Given the description of an element on the screen output the (x, y) to click on. 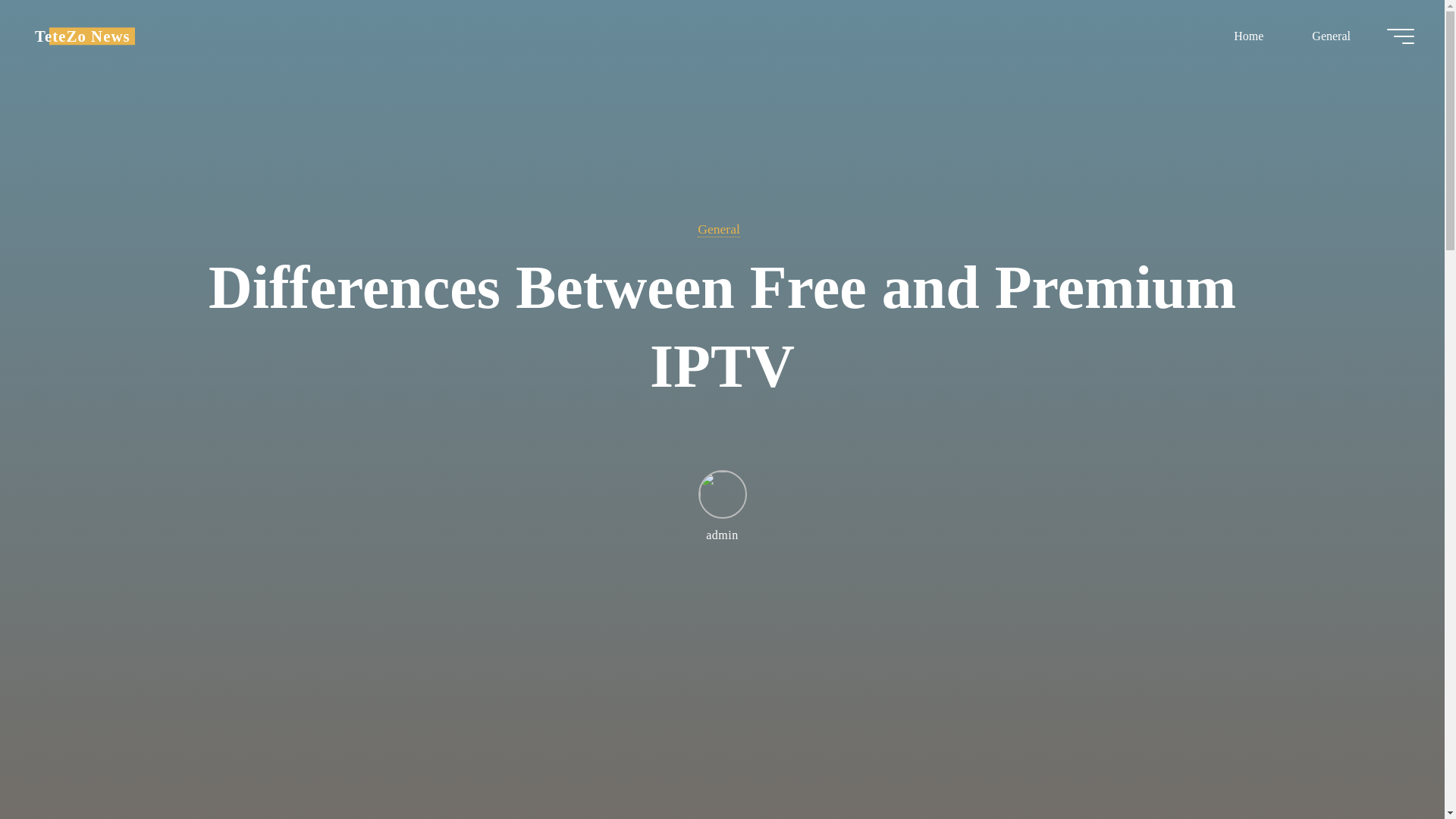
General (718, 229)
Blog (82, 36)
View all posts by admin (721, 505)
Read more (721, 724)
General (1330, 35)
Home (1248, 35)
TeteZo News (82, 36)
admin (721, 505)
